Given the description of an element on the screen output the (x, y) to click on. 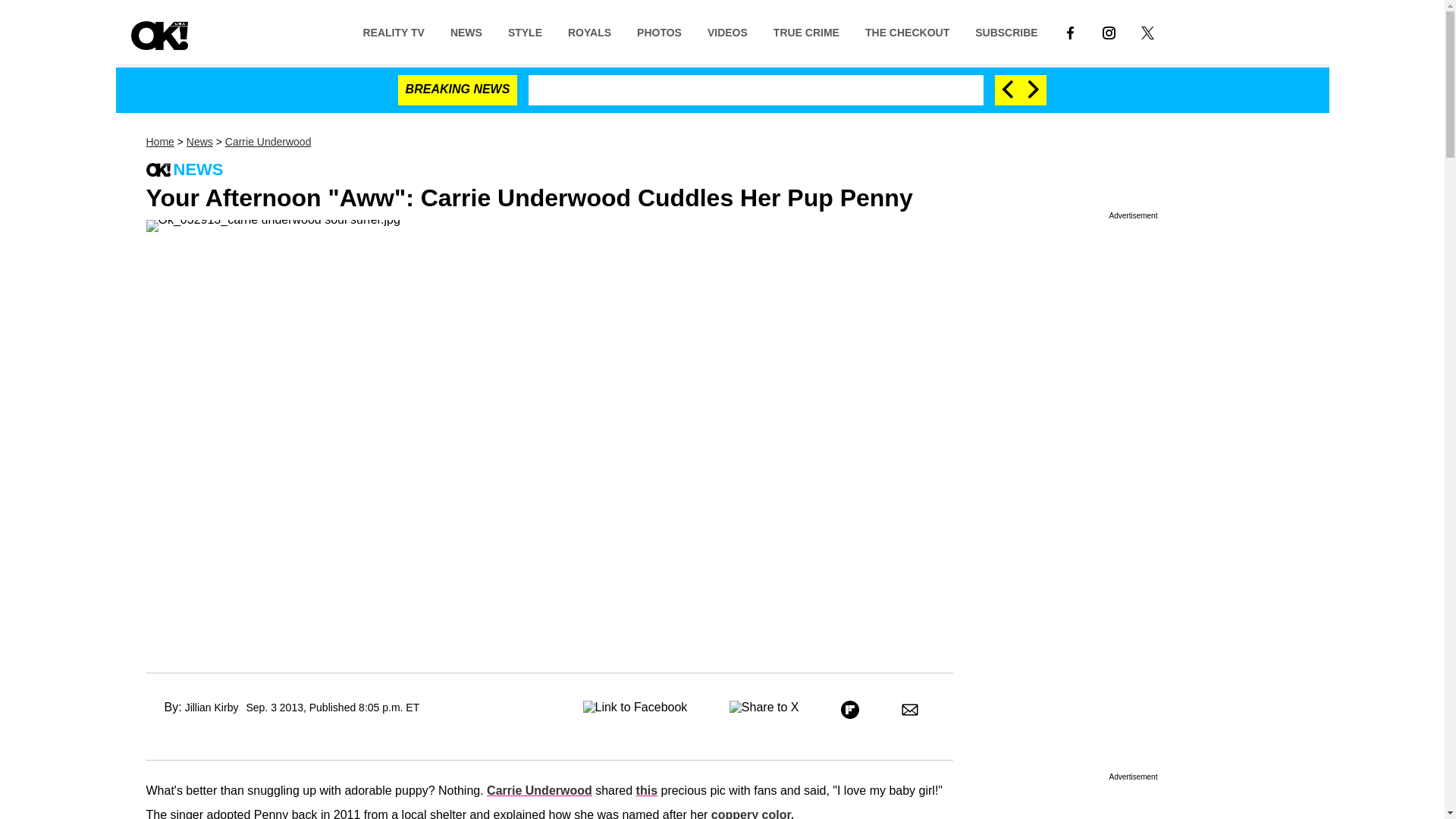
STYLE (524, 31)
SUBSCRIBE (1005, 31)
REALITY TV (392, 31)
Link to Instagram (1108, 31)
Link to Facebook (1070, 31)
NEWS (466, 31)
TRUE CRIME (805, 31)
Share to Email (909, 710)
Link to X (1147, 31)
LINK TO FACEBOOK (1070, 31)
LINK TO FACEBOOK (1070, 32)
Home (159, 141)
VIDEOS (727, 31)
Share to Flipboard (850, 710)
Share to X (764, 710)
